Given the description of an element on the screen output the (x, y) to click on. 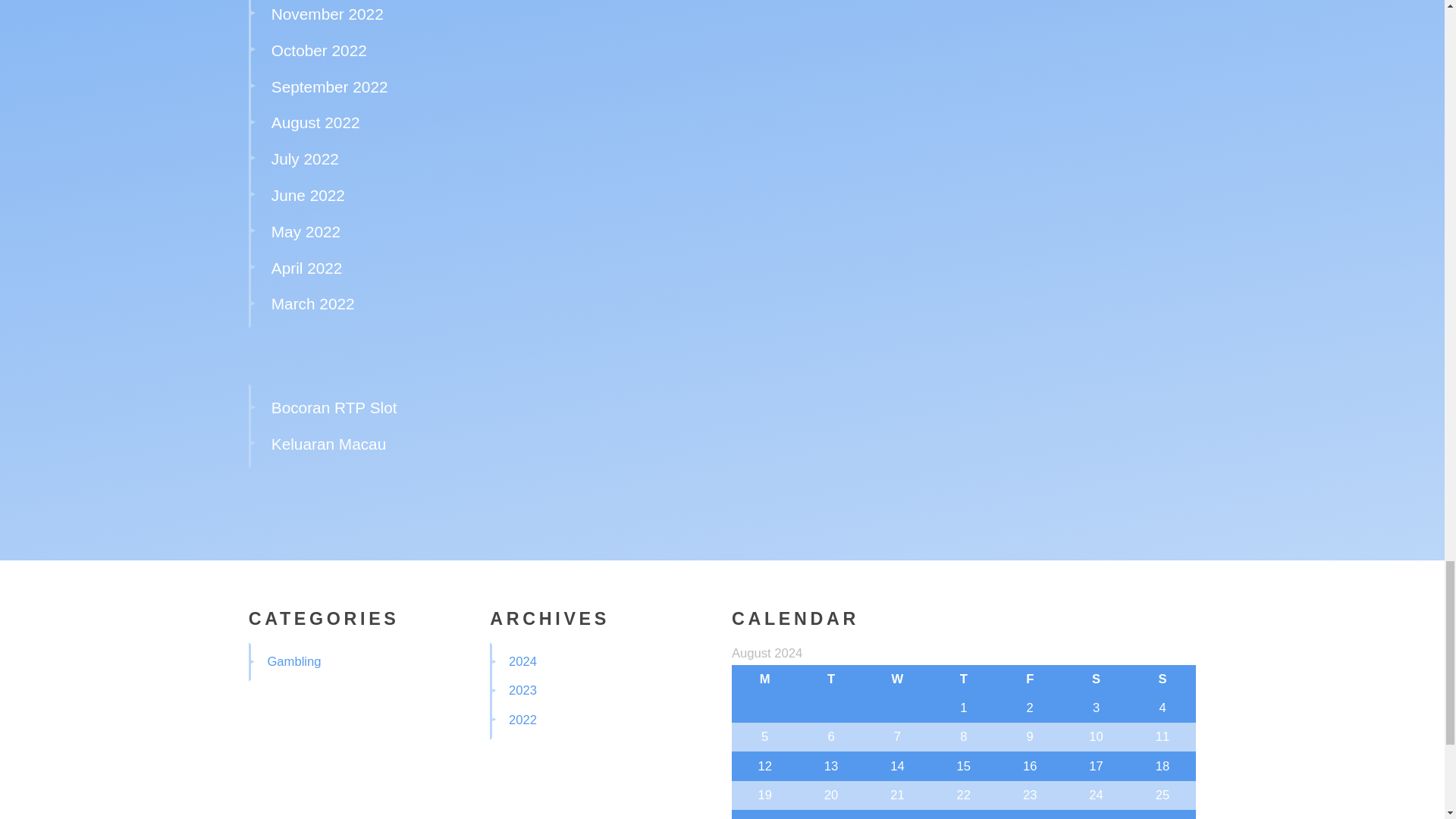
Thursday (962, 679)
Sunday (1162, 679)
September 2022 (329, 85)
Monday (764, 679)
November 2022 (327, 13)
Wednesday (897, 679)
October 2022 (318, 49)
Saturday (1095, 679)
August 2022 (314, 122)
Friday (1029, 679)
